Given the description of an element on the screen output the (x, y) to click on. 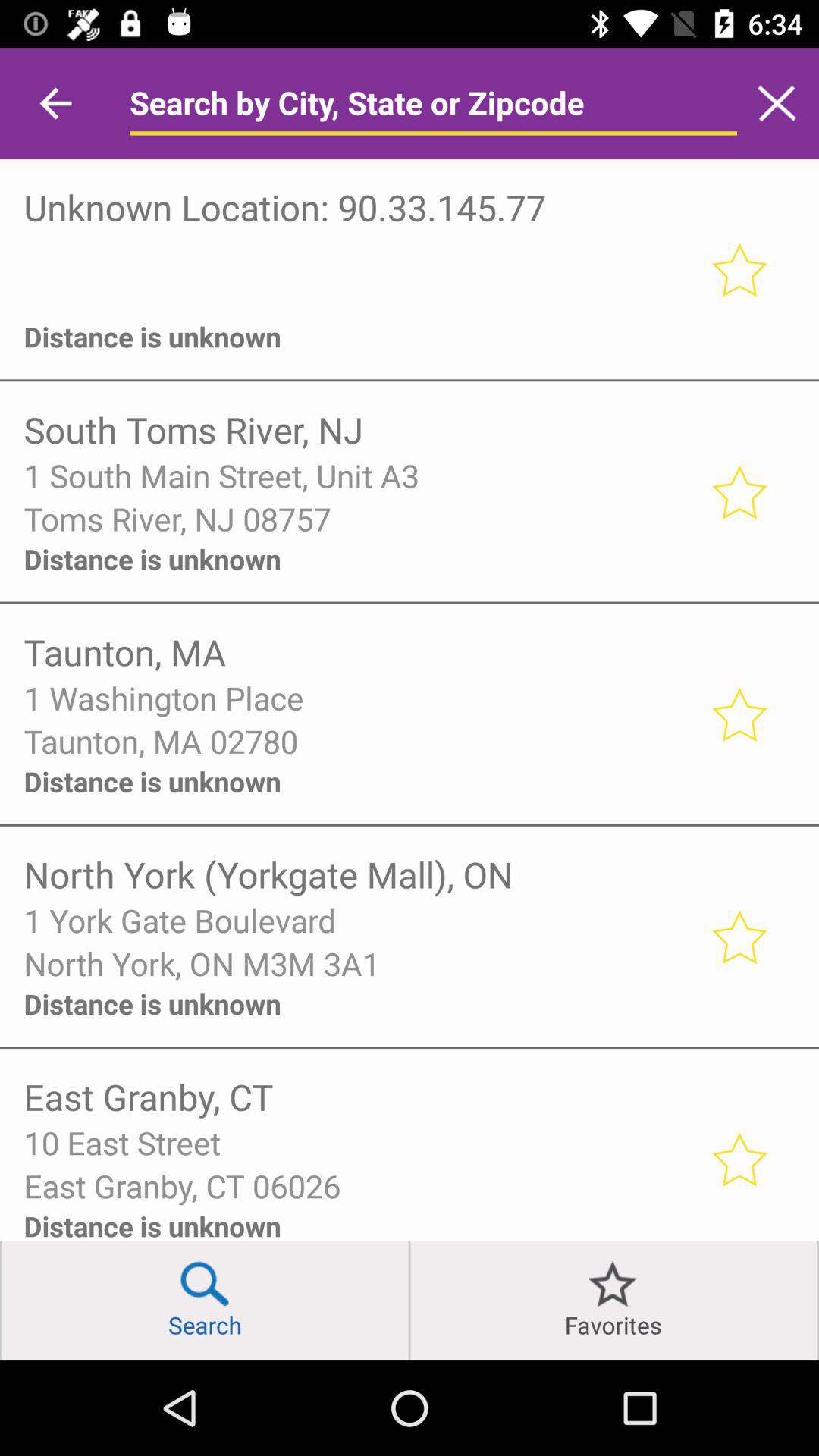
close search (776, 103)
